Given the description of an element on the screen output the (x, y) to click on. 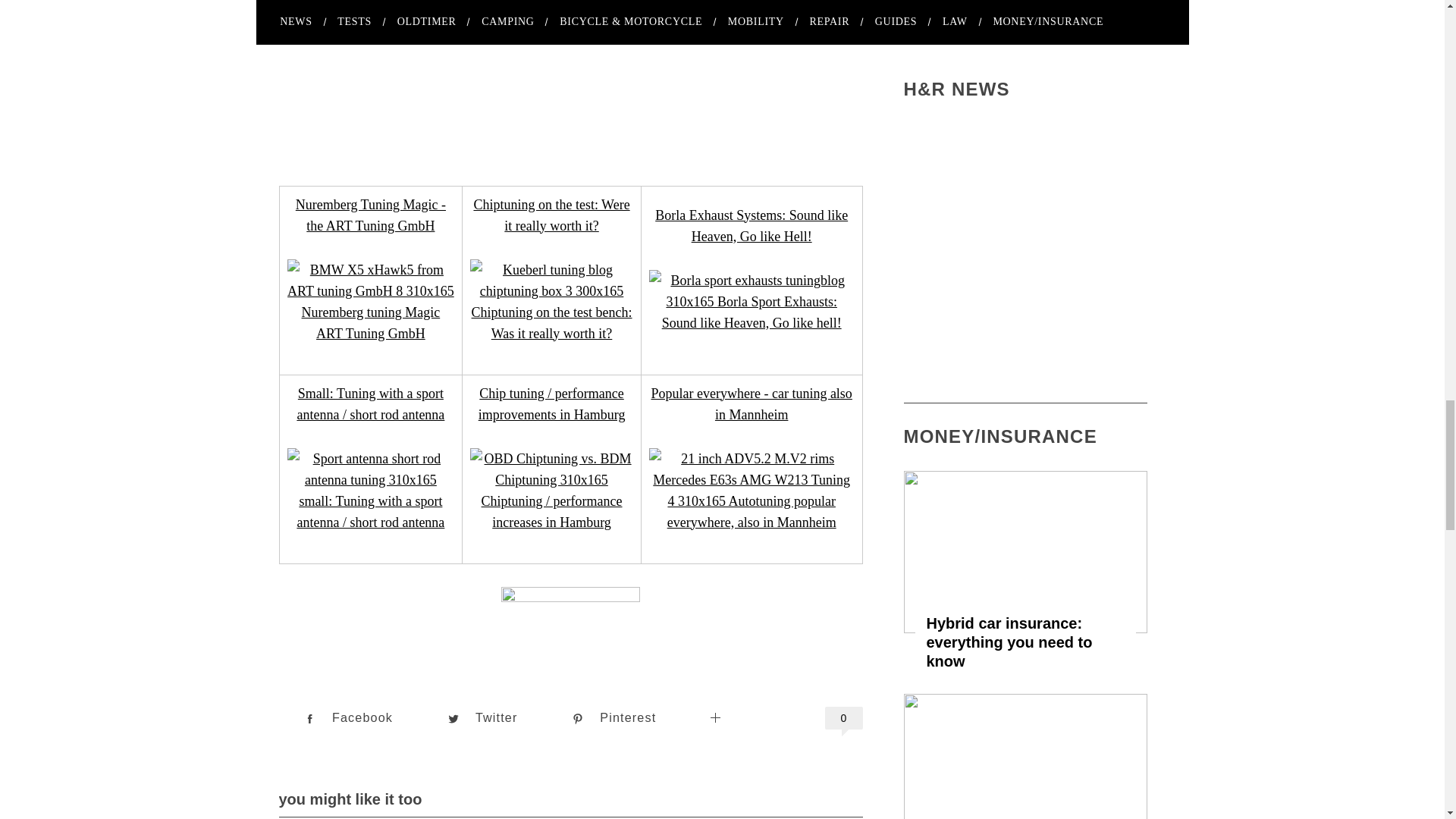
Nuremberg Tuning Magic - the ART Tuning GmbH (370, 215)
OBD Chiptuning vs. BDM Chiptuning 310x165 (551, 490)
Sport Antenna Short Rod Tuning 310x165 (370, 490)
Kueberl tuning blog chiptuning box 3 300x165 (551, 301)
BMW X5 xHawk5 by ART tuning GmbH 8 310x165 (370, 301)
Borla sports exhaust tuningblog 310x165 (751, 301)
Chiptuning on the test: Were it really worth it? (550, 215)
